Given the description of an element on the screen output the (x, y) to click on. 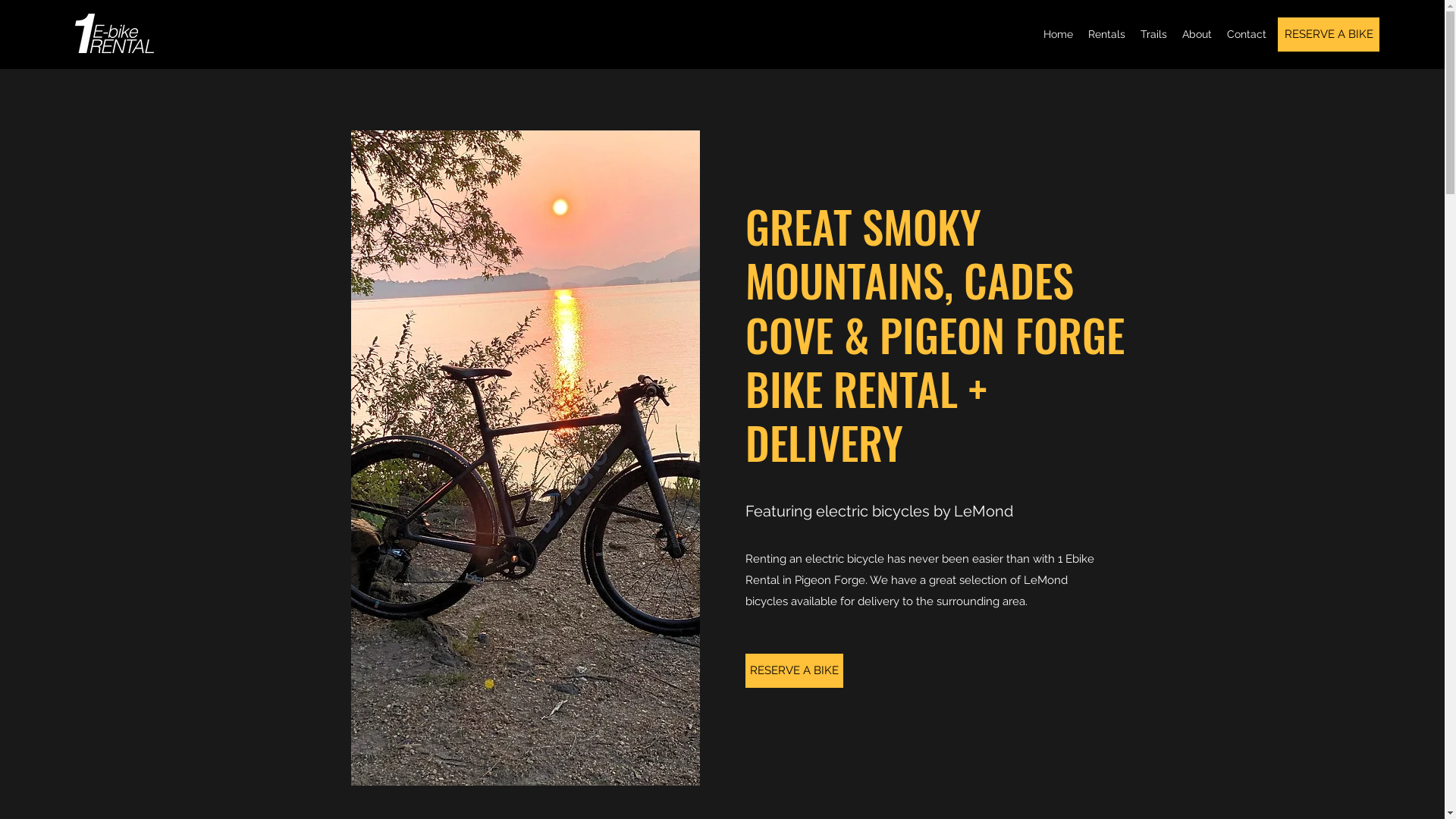
Contact Element type: text (1246, 33)
Rentals Element type: text (1106, 33)
Trails Element type: text (1153, 33)
RESERVE A BIKE Element type: text (1328, 34)
About Element type: text (1196, 33)
RESERVE A BIKE Element type: text (793, 670)
Home Element type: text (1057, 33)
